Given the description of an element on the screen output the (x, y) to click on. 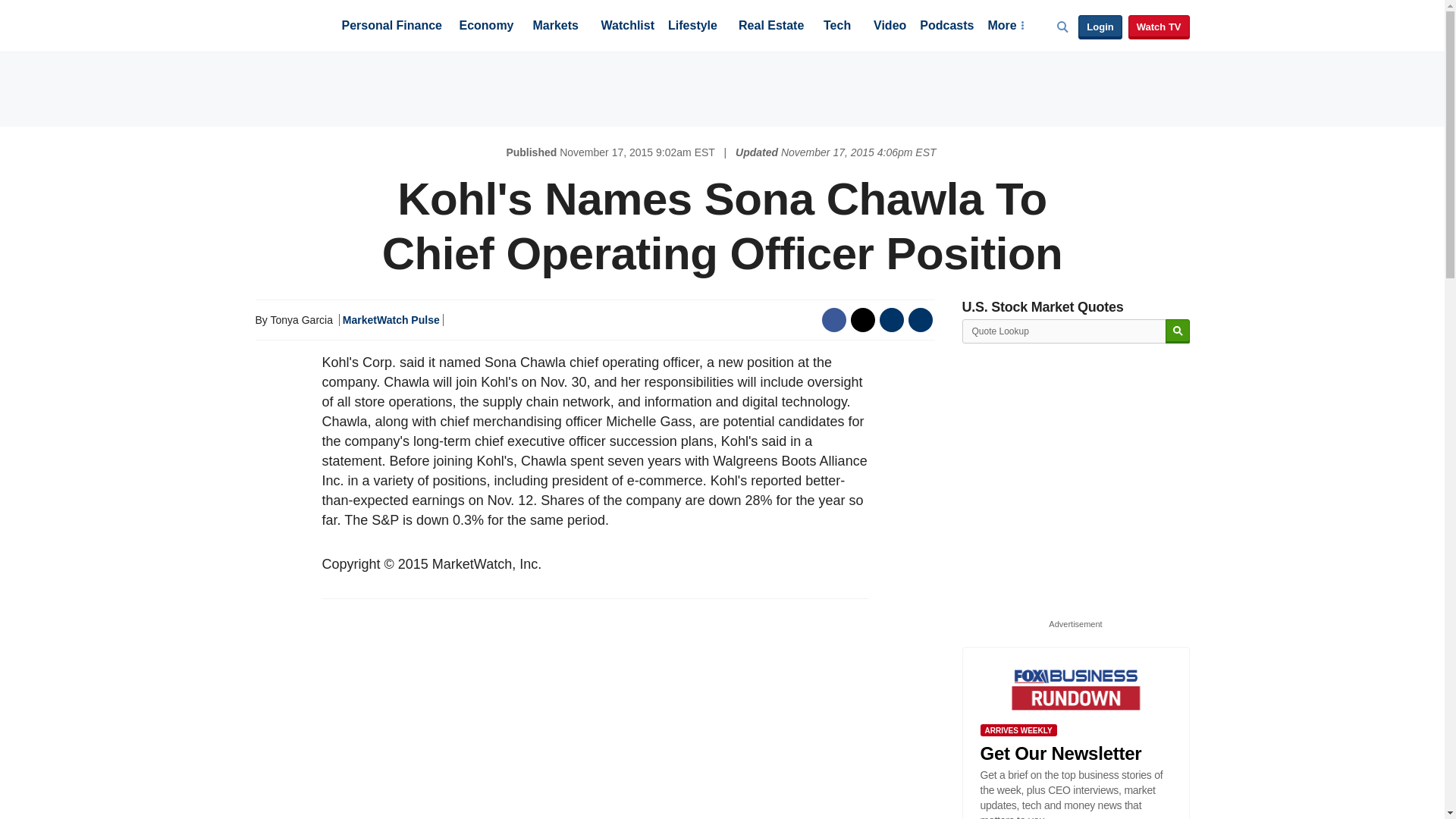
Markets (555, 27)
Login (1099, 27)
Video (889, 27)
Watchlist (626, 27)
Economy (486, 27)
Watch TV (1158, 27)
Search (1176, 331)
Tech (837, 27)
Personal Finance (391, 27)
More (1005, 27)
